Given the description of an element on the screen output the (x, y) to click on. 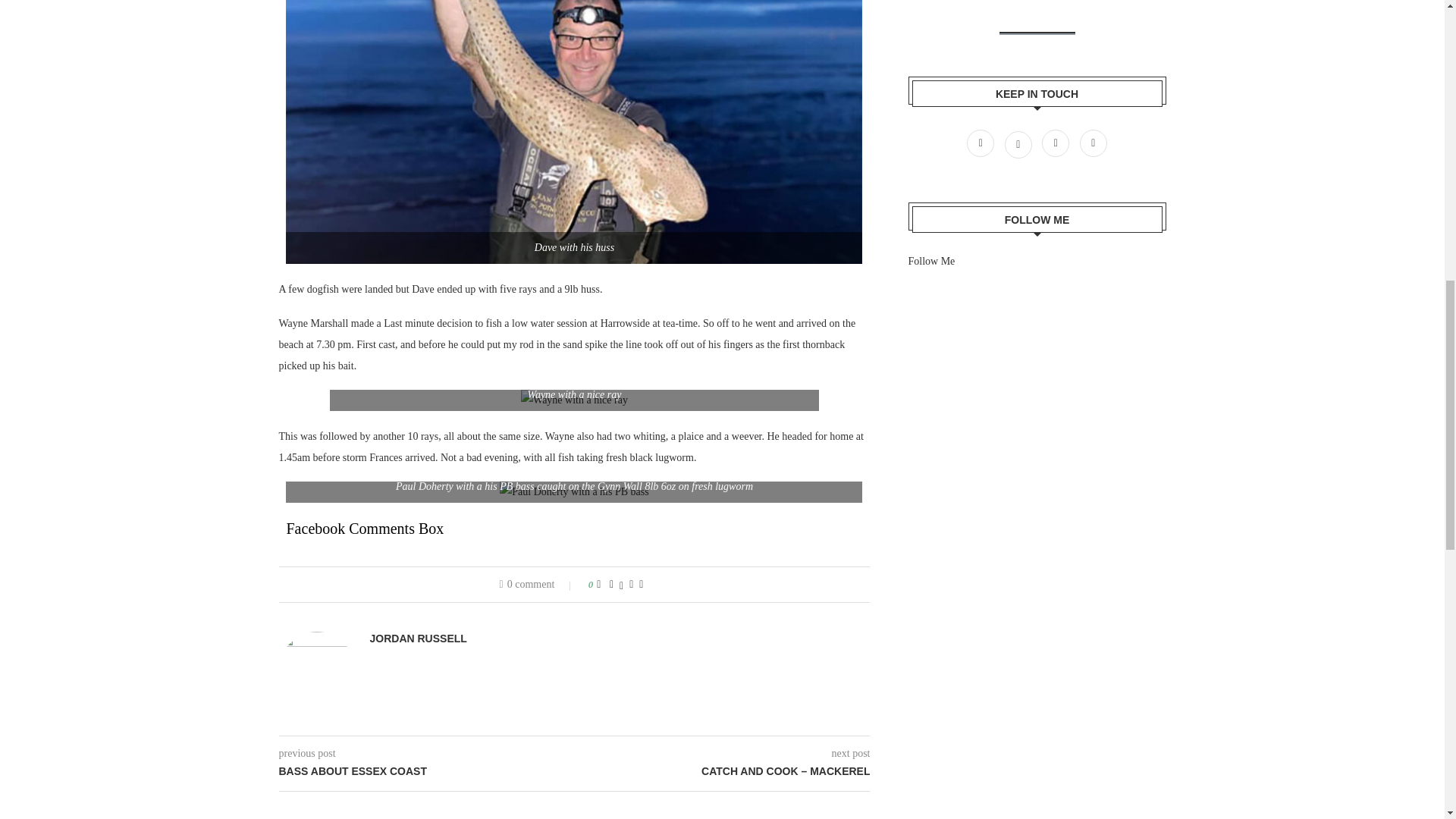
Author Jordan Russell (418, 638)
